Given the description of an element on the screen output the (x, y) to click on. 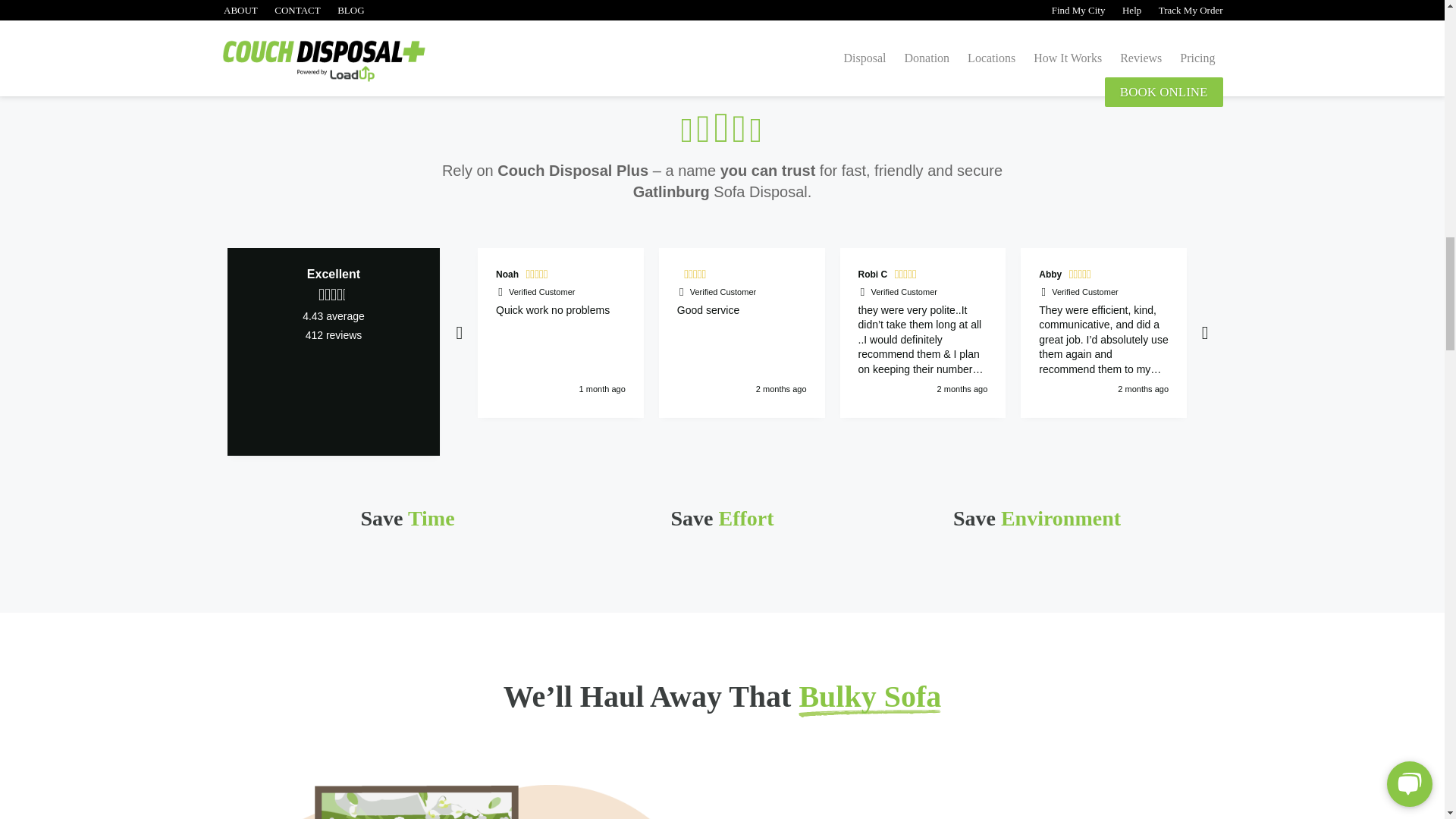
5 Stars (907, 276)
Read more reviews on REVIEWS.io (333, 391)
5 Stars (697, 276)
5 Stars (1081, 276)
5 Stars (538, 276)
4.43 Stars (333, 294)
5 Stars (1292, 276)
